Given the description of an element on the screen output the (x, y) to click on. 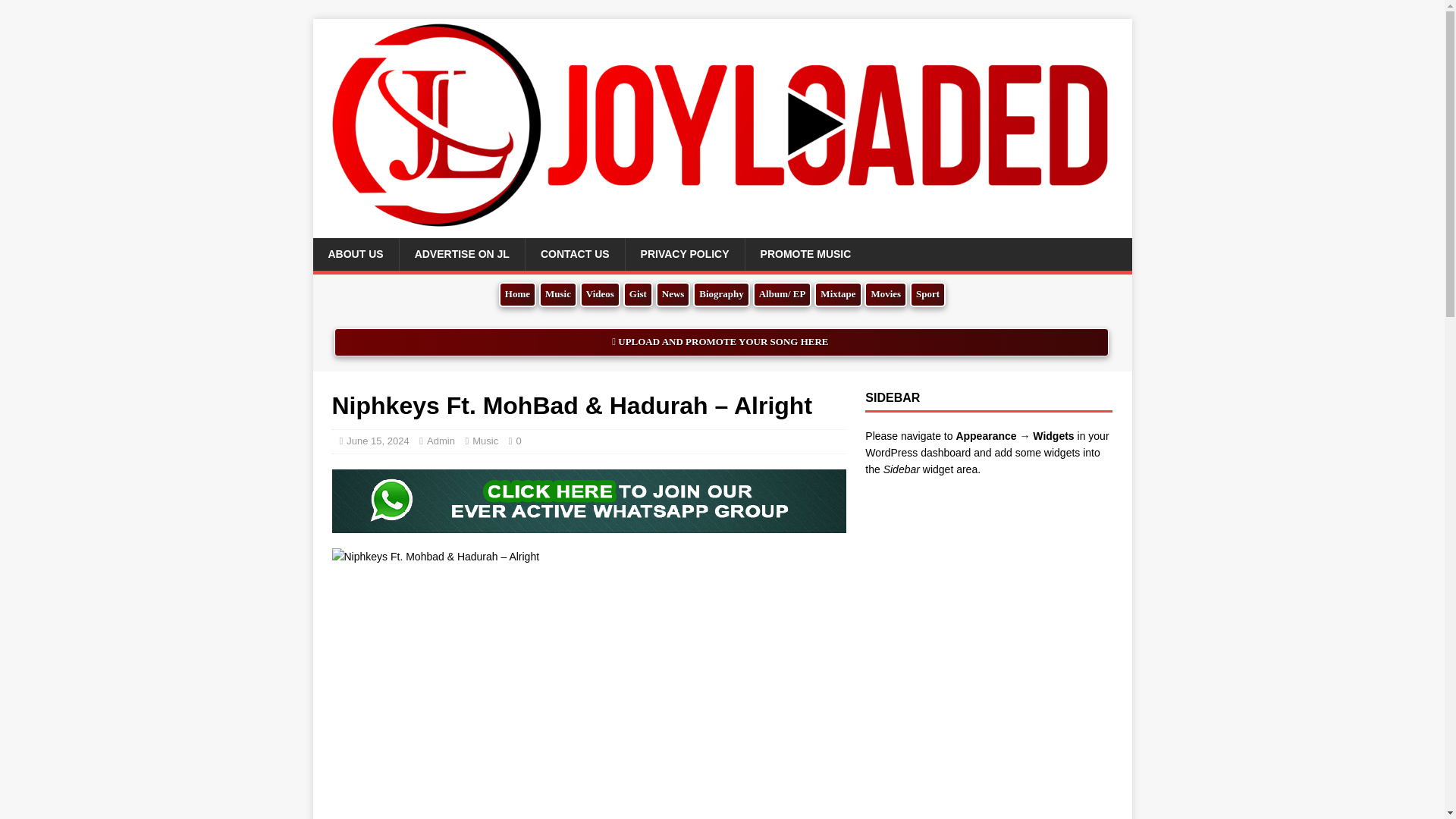
Music (484, 440)
PRIVACY POLICY (684, 254)
UPLOAD AND PROMOTE YOUR SONG HERE  (721, 342)
ABOUT US (355, 254)
Biography (721, 294)
CONTACT US (574, 254)
Videos (599, 294)
News (673, 294)
Home (517, 294)
Sport (927, 294)
Music (557, 294)
JoyLoaded (722, 229)
Movies (885, 294)
Gist (637, 294)
Mixtape (837, 294)
